Given the description of an element on the screen output the (x, y) to click on. 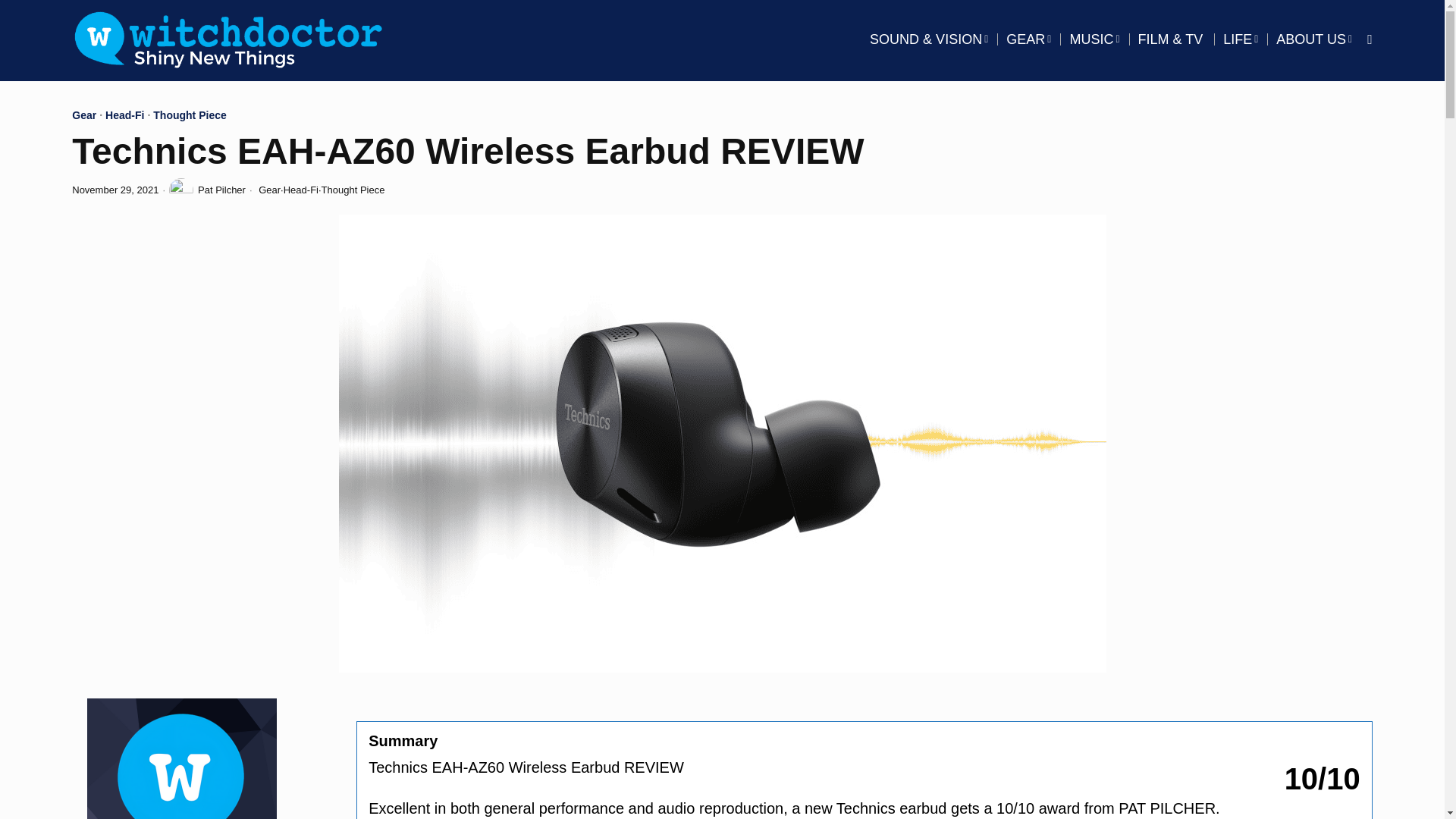
LIFE (1240, 39)
29 Nov, 2021 12:26:15 (114, 190)
Head-Fi (124, 116)
Pat Pilcher (207, 190)
Gear (83, 116)
Head-Fi (300, 189)
Gear (270, 189)
ABOUT US (1313, 39)
Thought Piece (188, 116)
GEAR (1028, 39)
MUSIC (1093, 39)
